Given the description of an element on the screen output the (x, y) to click on. 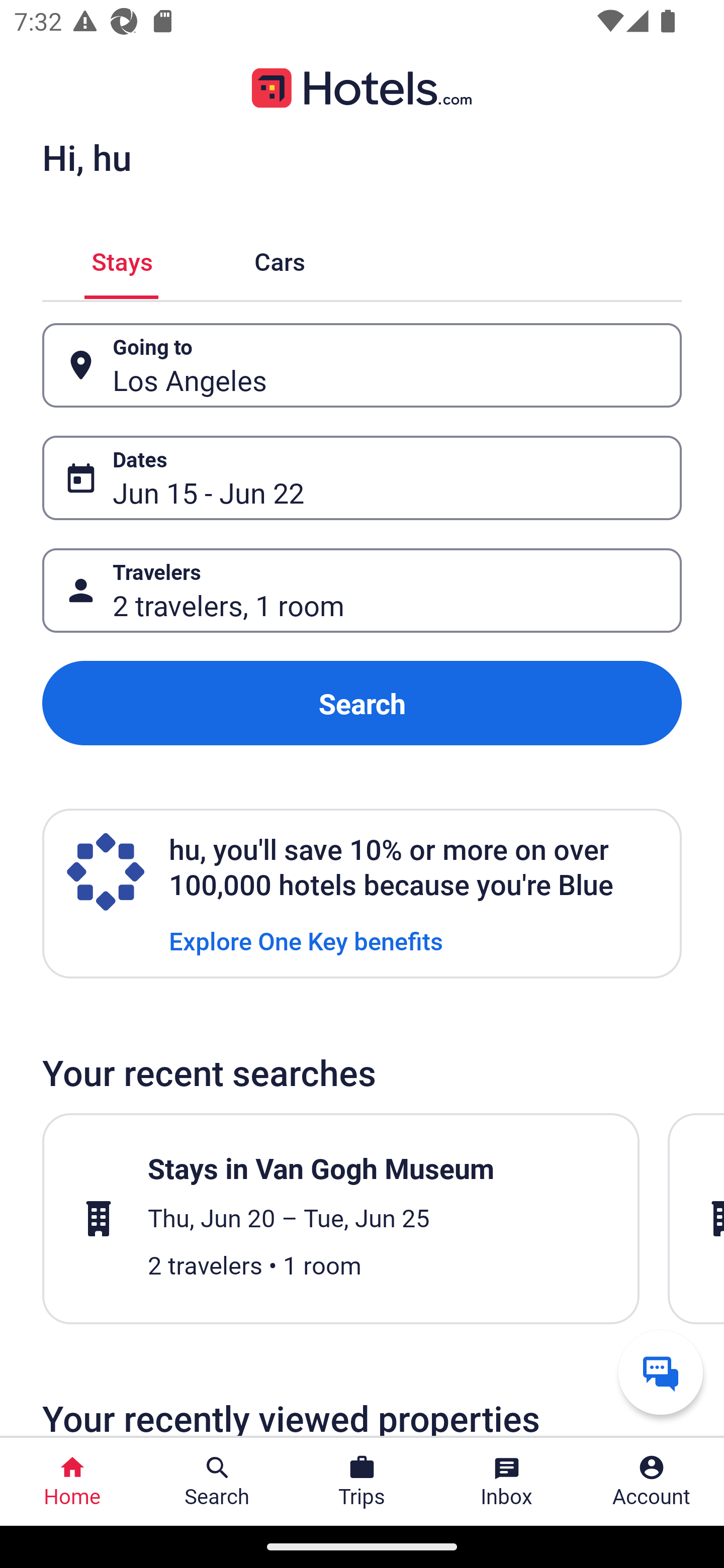
Hi, hu (86, 156)
Cars (279, 259)
Going to Button Los Angeles (361, 365)
Dates Button Jun 15 - Jun 22 (361, 477)
Travelers Button 2 travelers, 1 room (361, 590)
Search (361, 702)
Get help from a virtual agent (660, 1371)
Search Search Button (216, 1481)
Trips Trips Button (361, 1481)
Inbox Inbox Button (506, 1481)
Account Profile. Button (651, 1481)
